Given the description of an element on the screen output the (x, y) to click on. 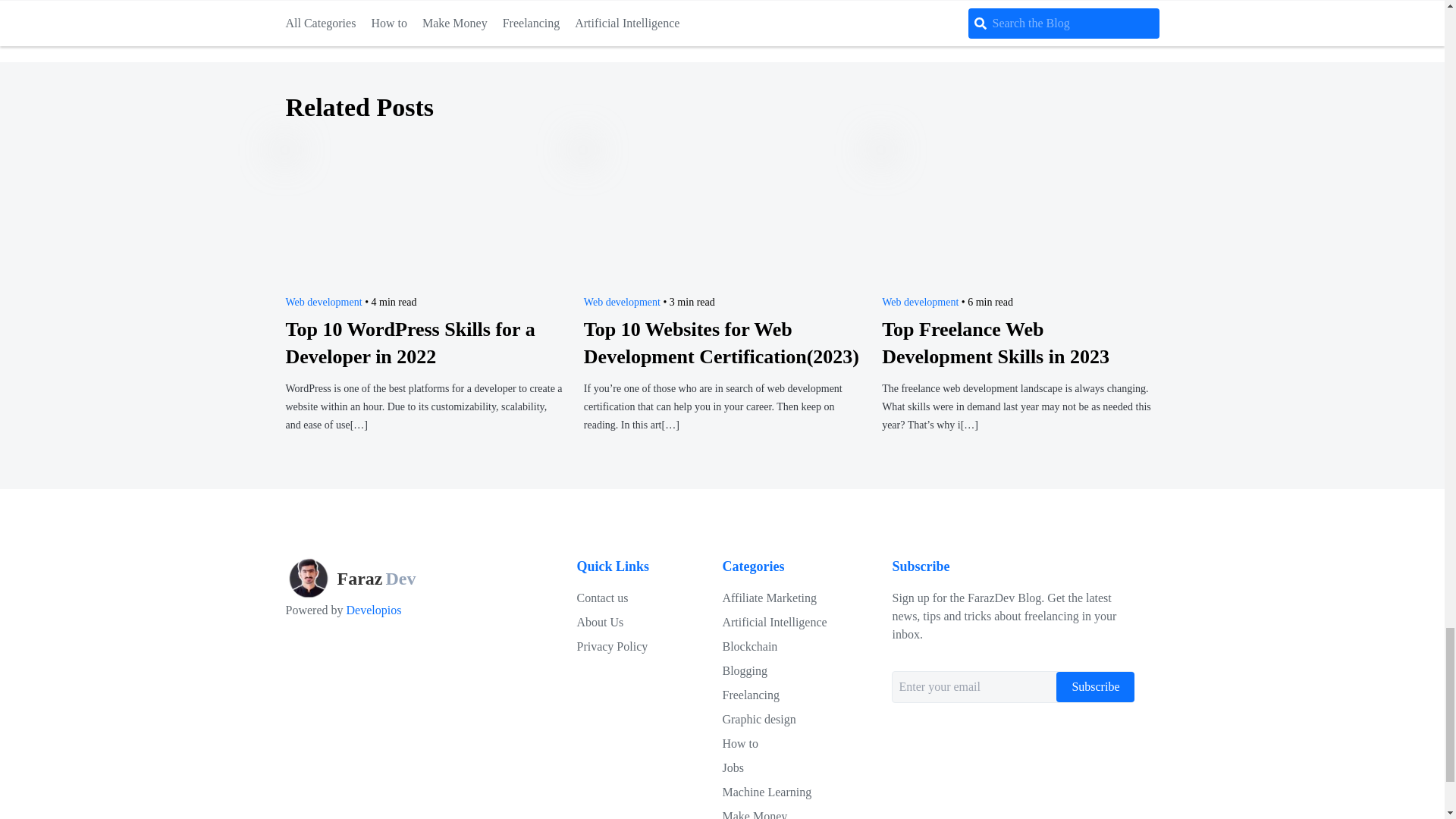
Web development (622, 301)
Developios (371, 609)
Blockchain (749, 645)
Web development (920, 301)
Web development (323, 301)
Contact us (372, 578)
Affiliate Marketing (601, 597)
Artificial Intelligence (769, 597)
Privacy Policy (774, 621)
About Us (611, 645)
